Given the description of an element on the screen output the (x, y) to click on. 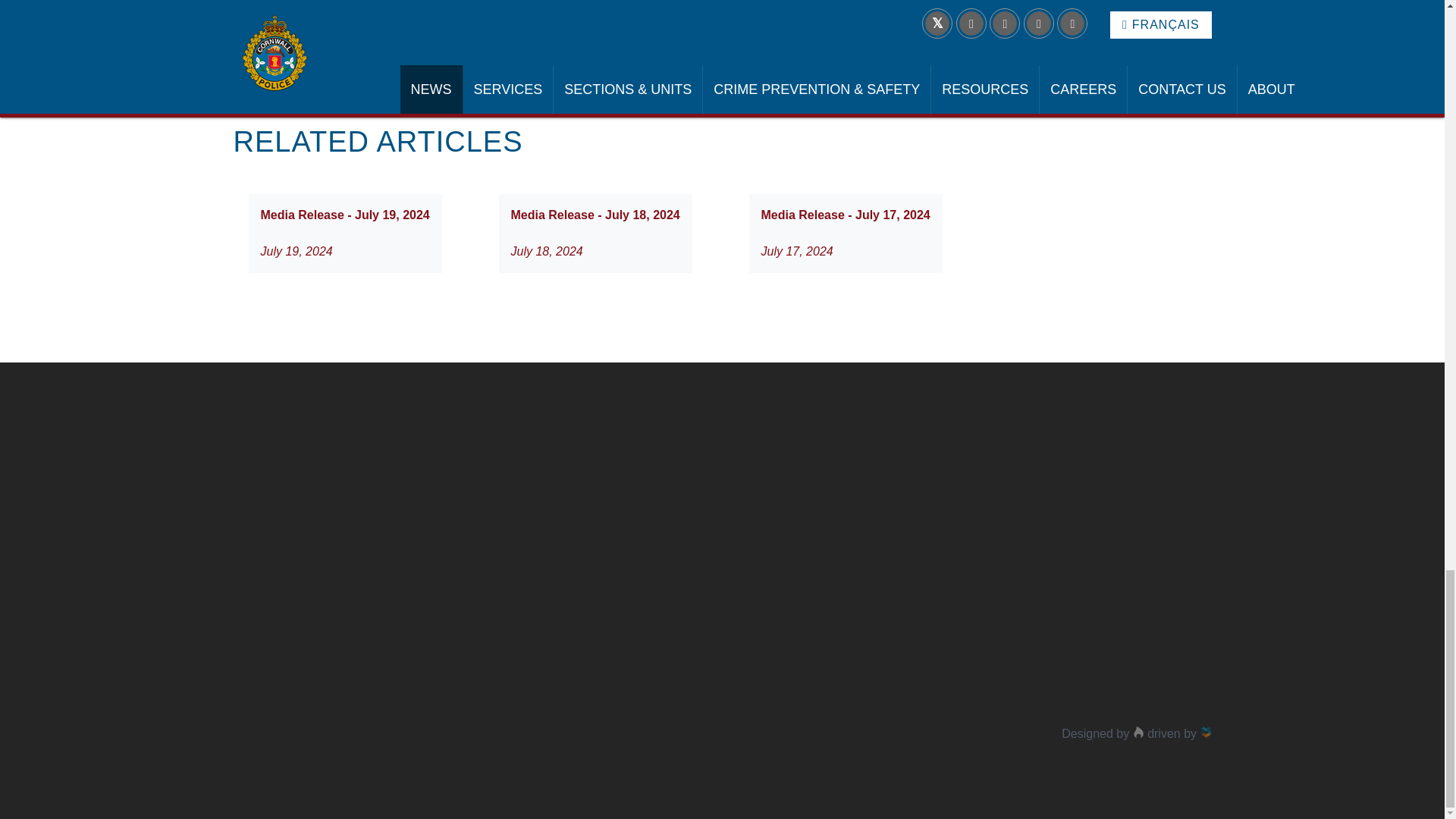
Ontario emergency information (732, 59)
